Given the description of an element on the screen output the (x, y) to click on. 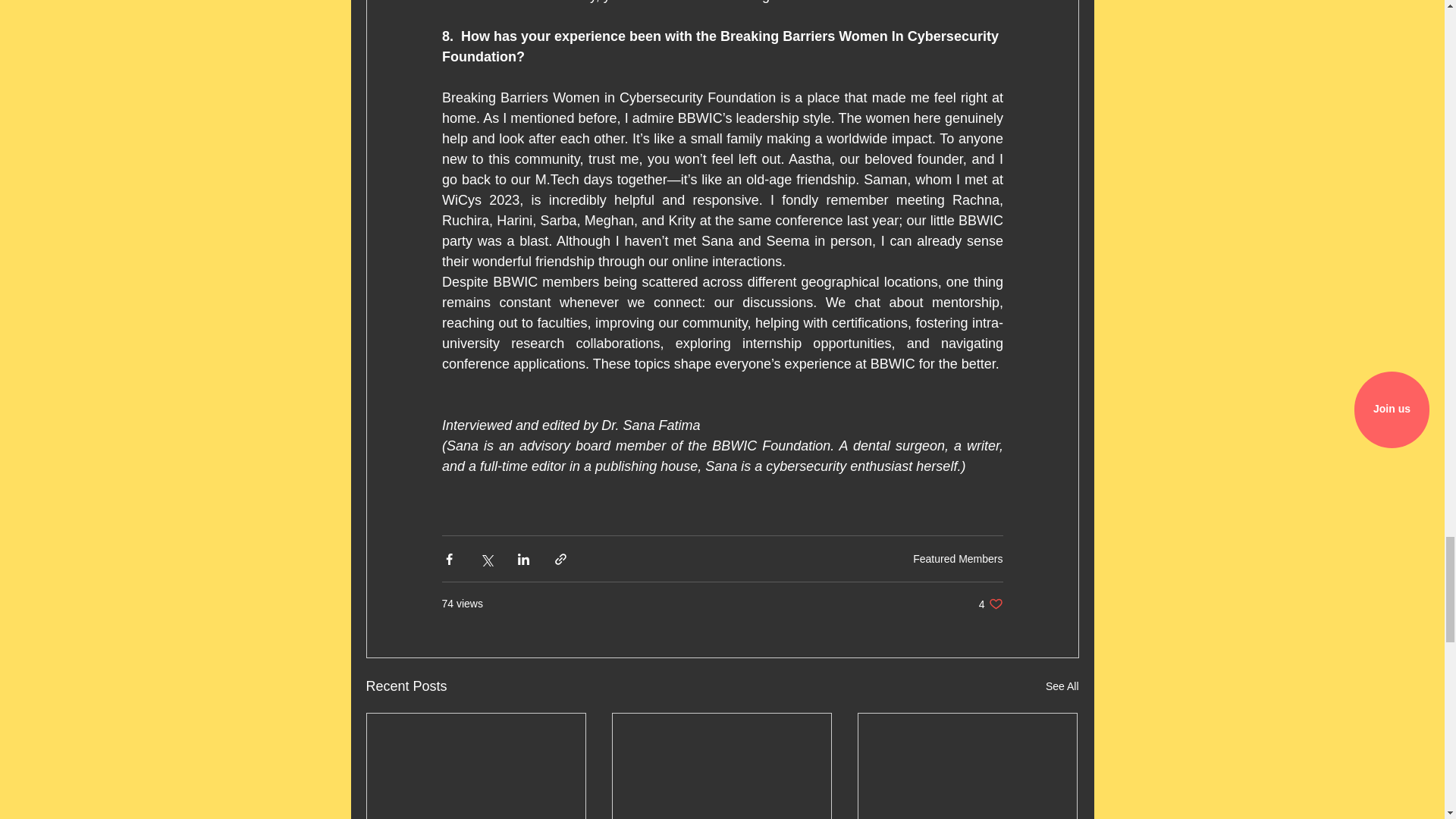
See All (1061, 686)
Featured Members (990, 603)
M.Tech (957, 558)
